Given the description of an element on the screen output the (x, y) to click on. 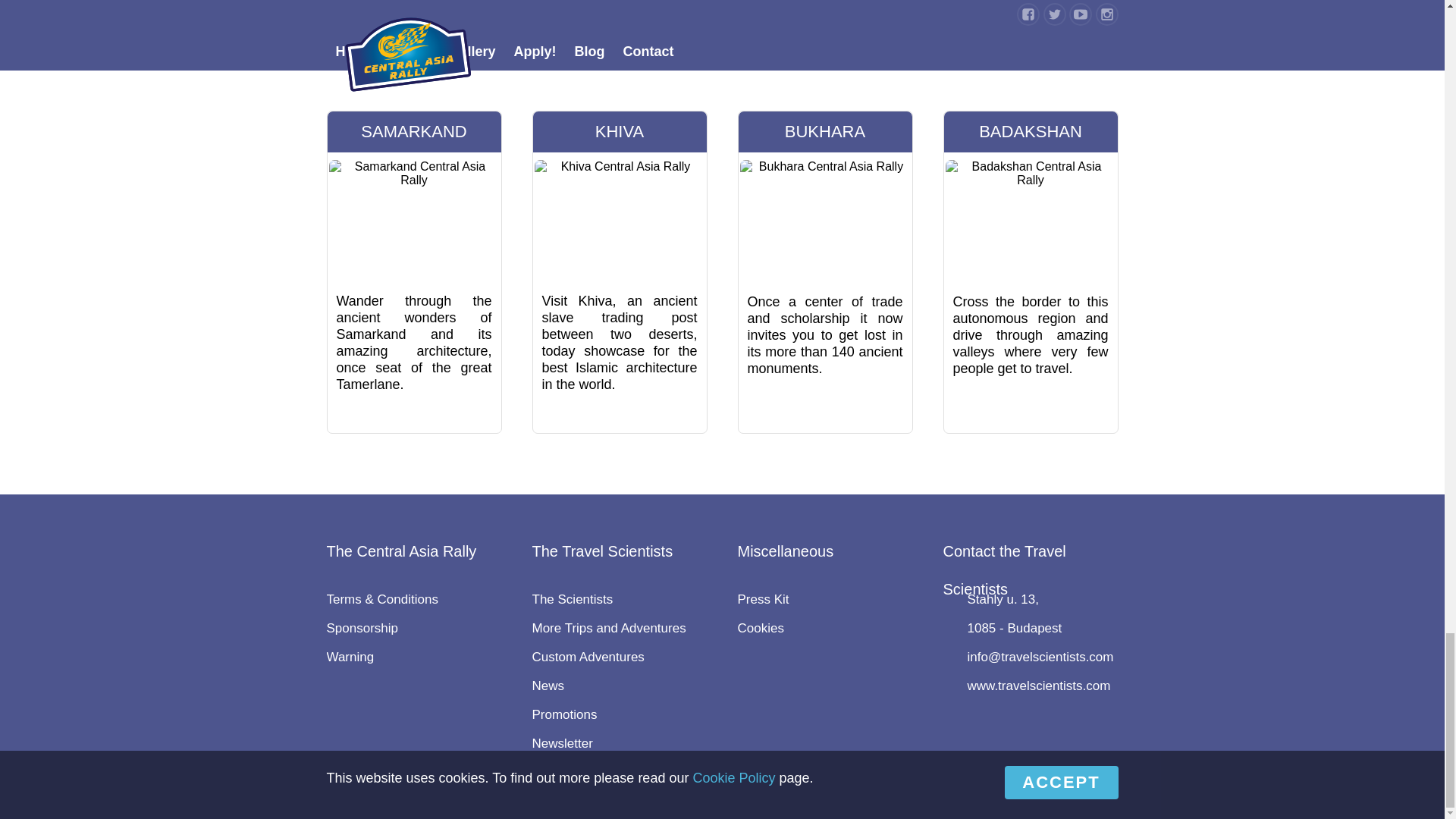
Custom Adventures (588, 657)
Newsletter (562, 743)
www.travelscientists.com (1039, 685)
Warning (350, 657)
The Scientists (572, 599)
Cookies (759, 627)
Sponsorship (361, 627)
More Trips and Adventures (608, 627)
Press Kit (762, 599)
News (548, 685)
